Given the description of an element on the screen output the (x, y) to click on. 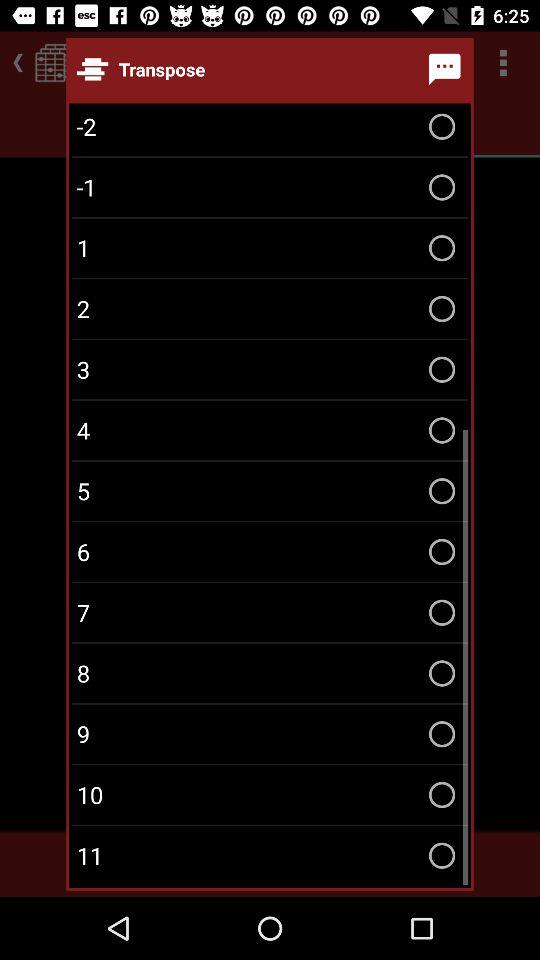
press the item below the 8 (269, 733)
